Given the description of an element on the screen output the (x, y) to click on. 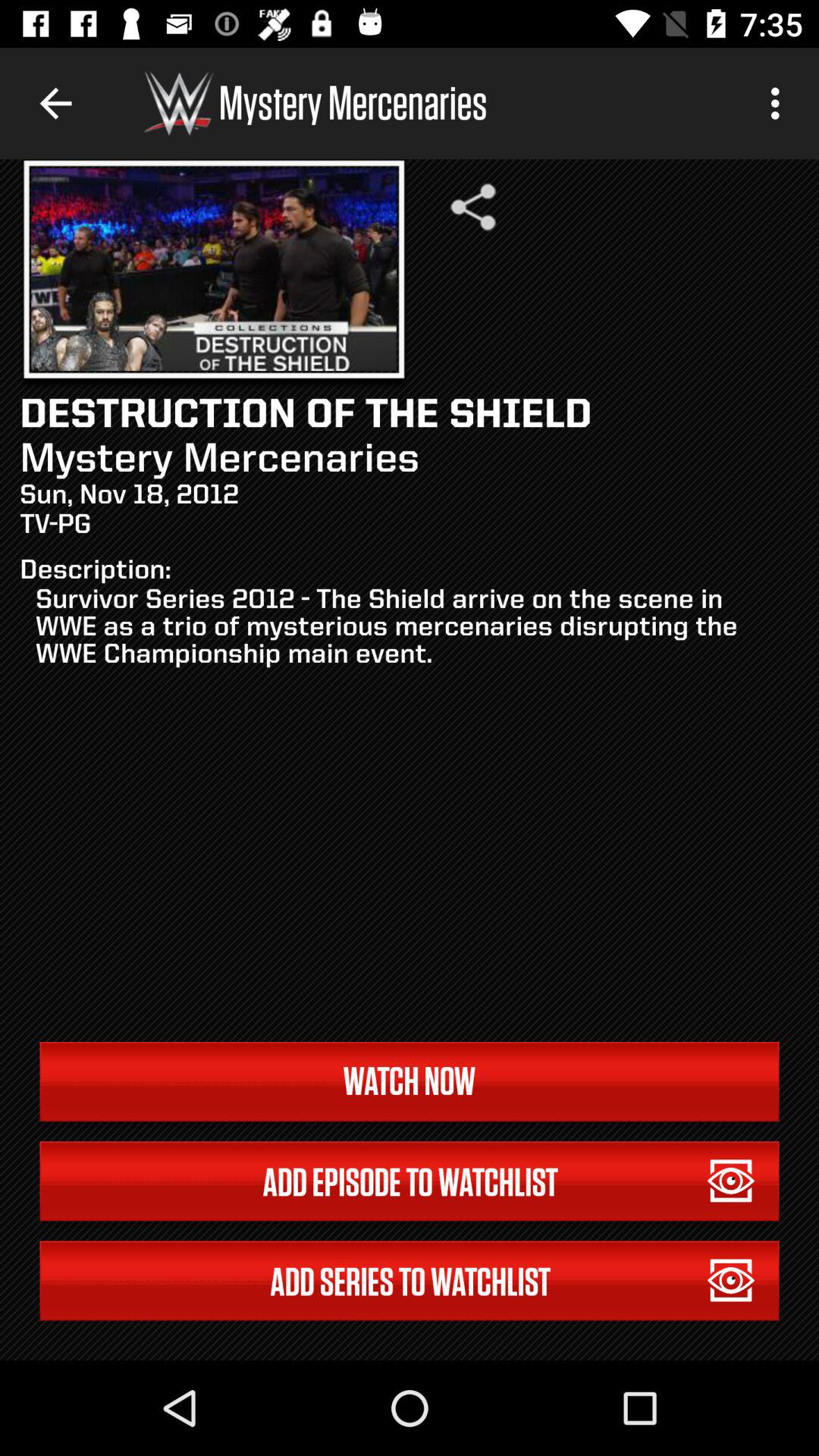
click the icon above the destruction of the item (472, 206)
